Given the description of an element on the screen output the (x, y) to click on. 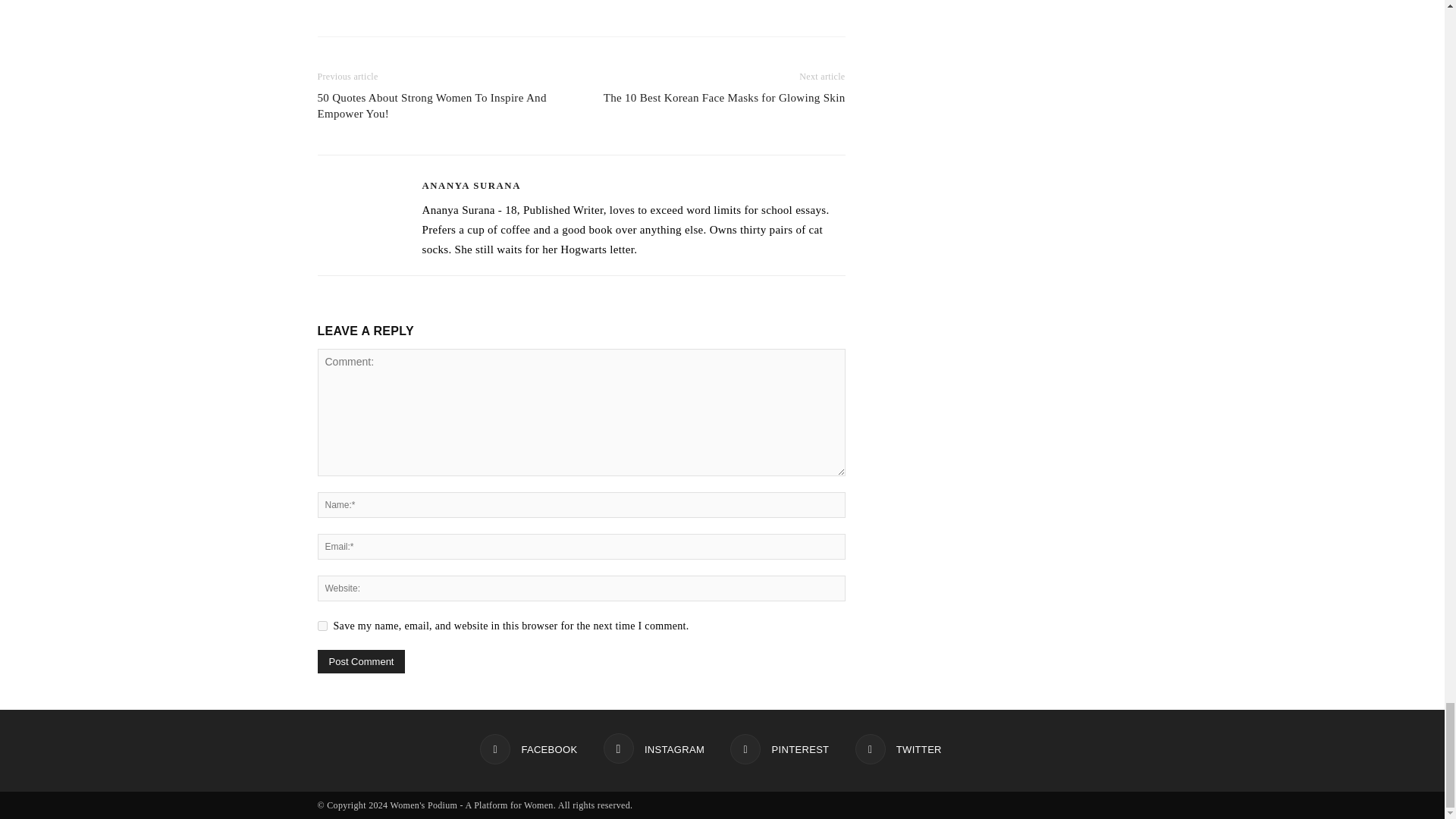
Post Comment (360, 661)
yes (321, 625)
